Given the description of an element on the screen output the (x, y) to click on. 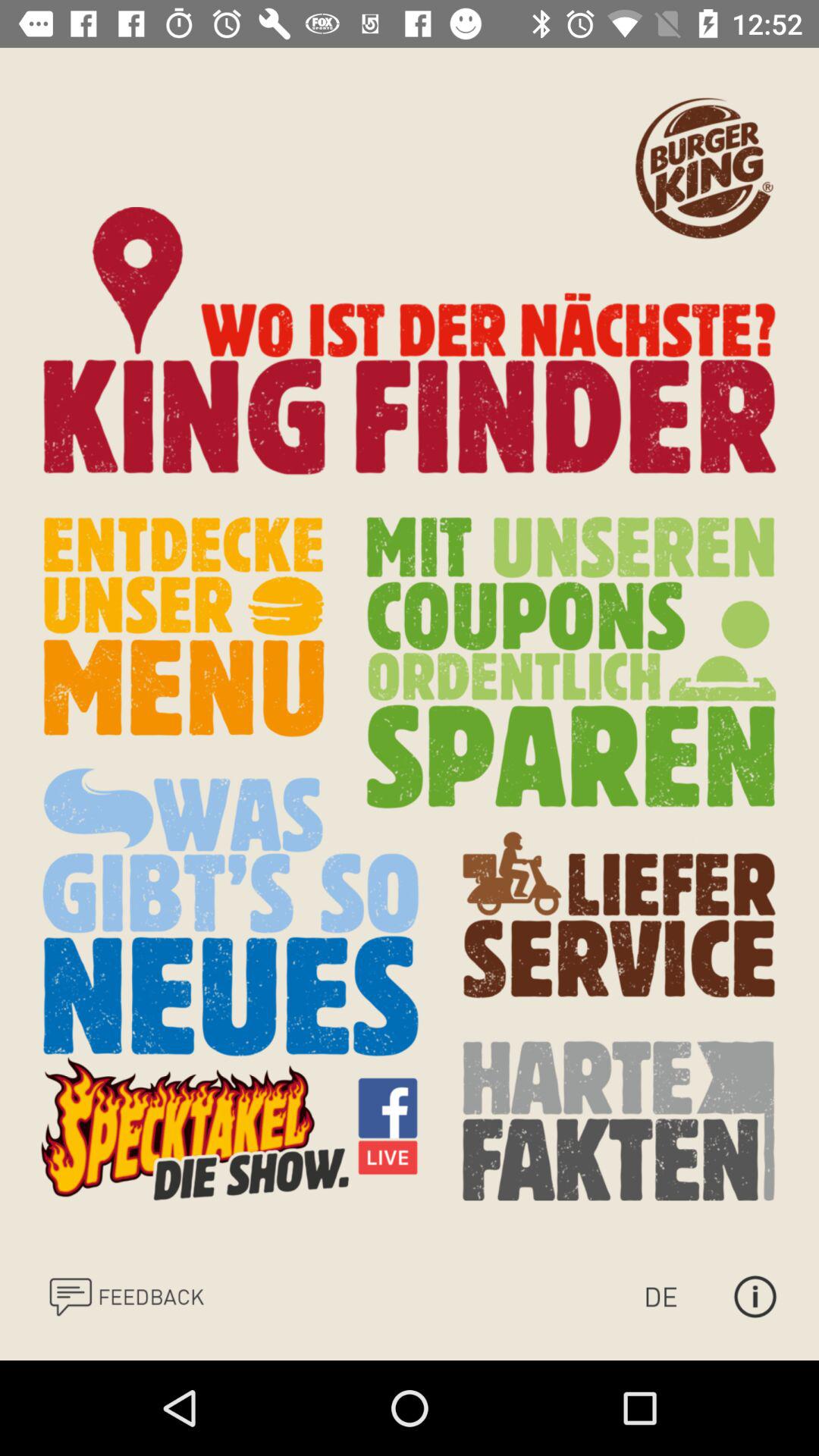
open more information (755, 1296)
